Given the description of an element on the screen output the (x, y) to click on. 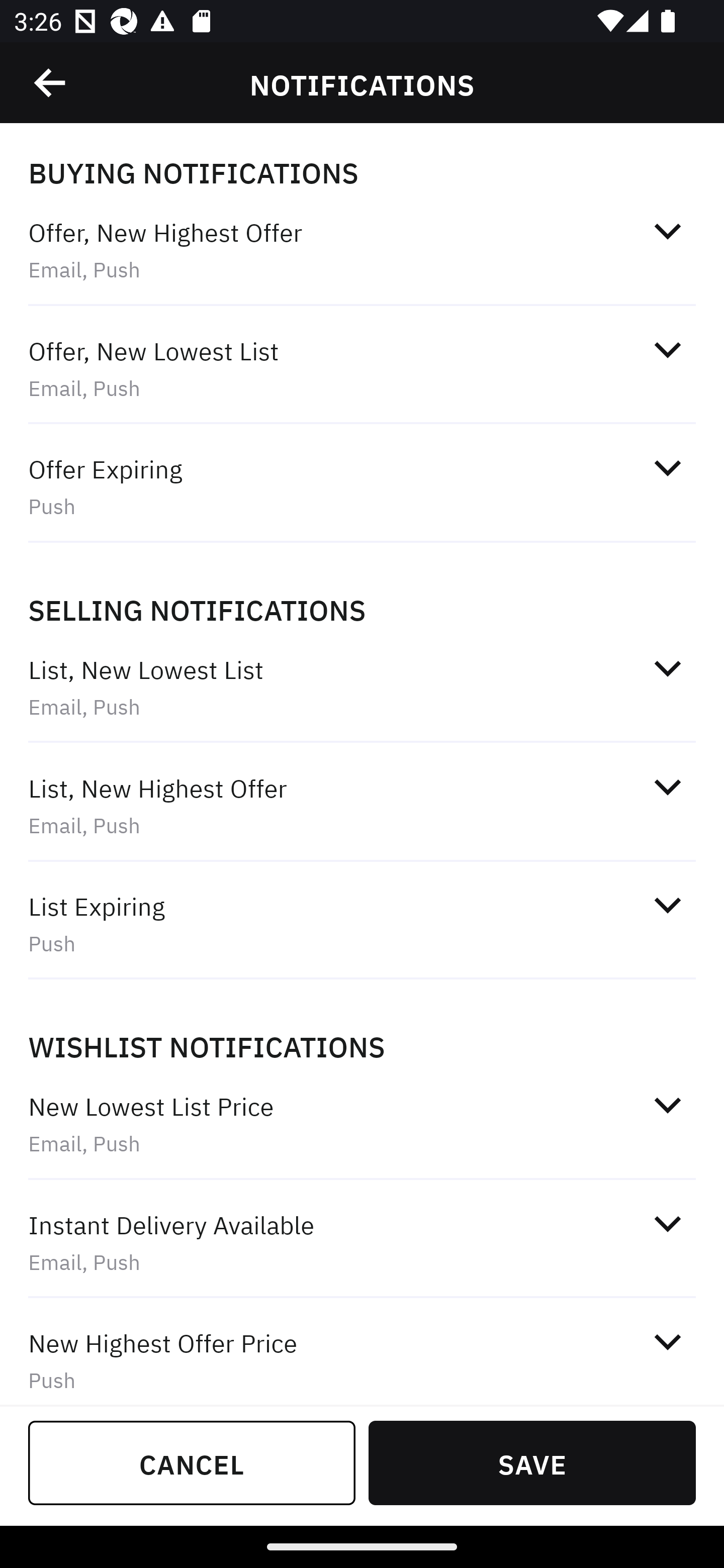
 (50, 83)
Offer, New Highest Offer  Email, Push (361, 249)
 (667, 231)
Offer, New Lowest List  Email, Push (361, 368)
 (667, 350)
Offer Expiring  Push (361, 486)
 (667, 467)
List, New Lowest List  Email, Push (361, 687)
 (667, 668)
List, New Highest Offer  Email, Push (361, 805)
 (667, 787)
List Expiring  Push (361, 924)
 (667, 905)
New Lowest List Price  Email, Push (361, 1123)
 (667, 1104)
Instant Delivery Available  Email, Push (361, 1242)
 (667, 1223)
New Highest Offer Price  Push (361, 1352)
 (667, 1341)
CANCEL (191, 1462)
SAVE (531, 1462)
